Given the description of an element on the screen output the (x, y) to click on. 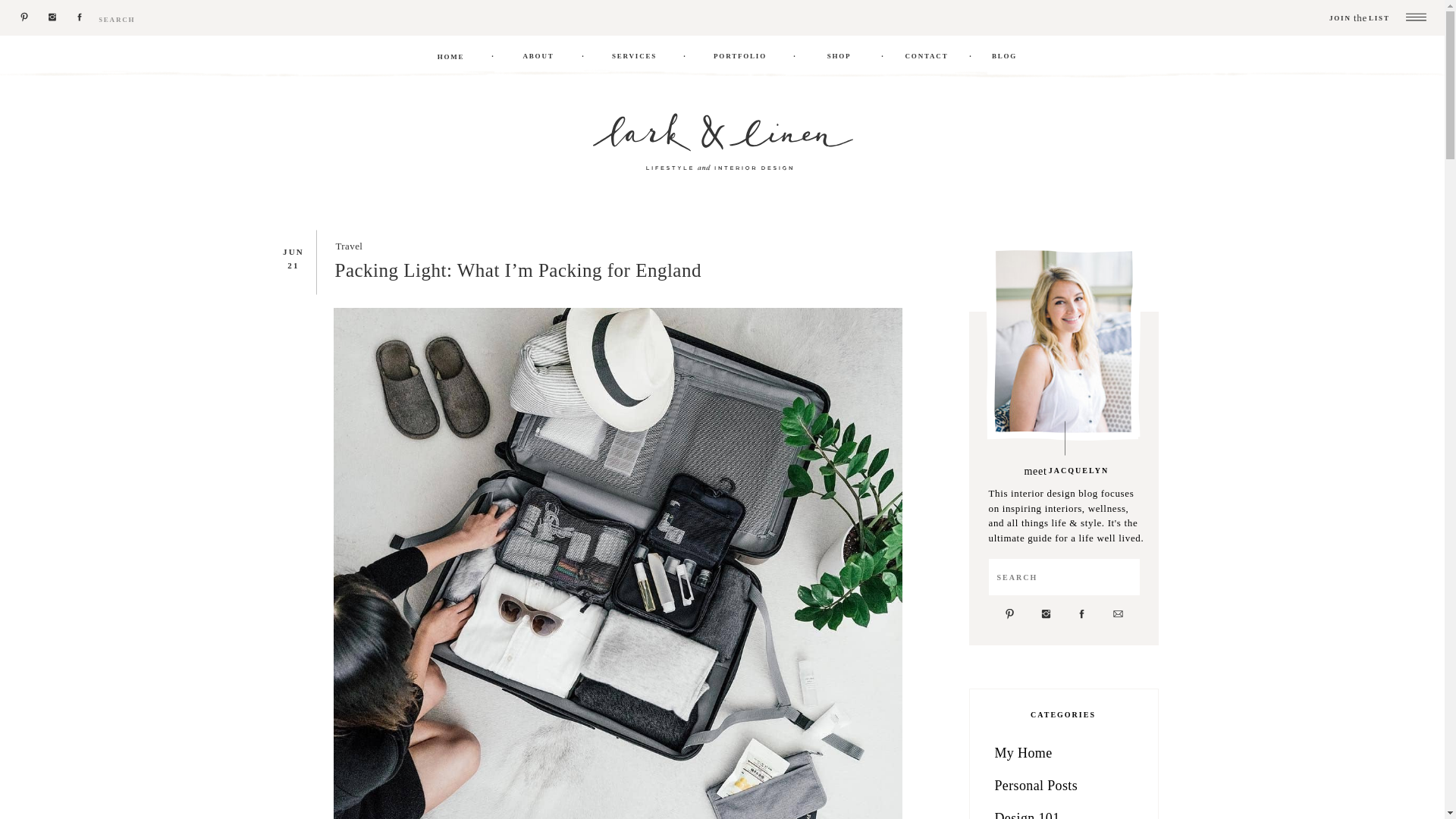
. (684, 53)
LIST (1380, 19)
LIST (1380, 19)
the (1360, 17)
Search for: (173, 19)
the (1360, 17)
LIST (1380, 19)
. (582, 53)
JOIN (1361, 19)
JOIN (1361, 19)
